Given the description of an element on the screen output the (x, y) to click on. 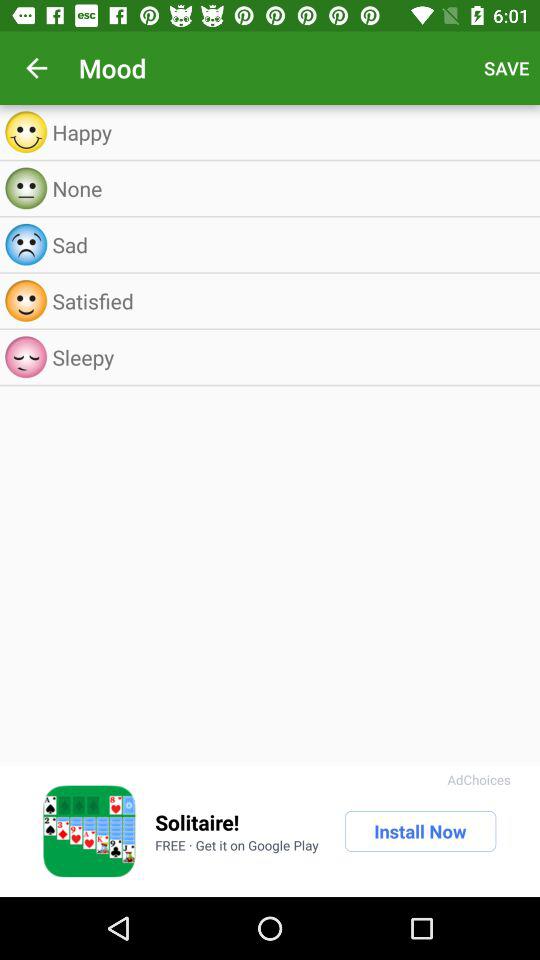
open the item below the solitaire! item (236, 845)
